Given the description of an element on the screen output the (x, y) to click on. 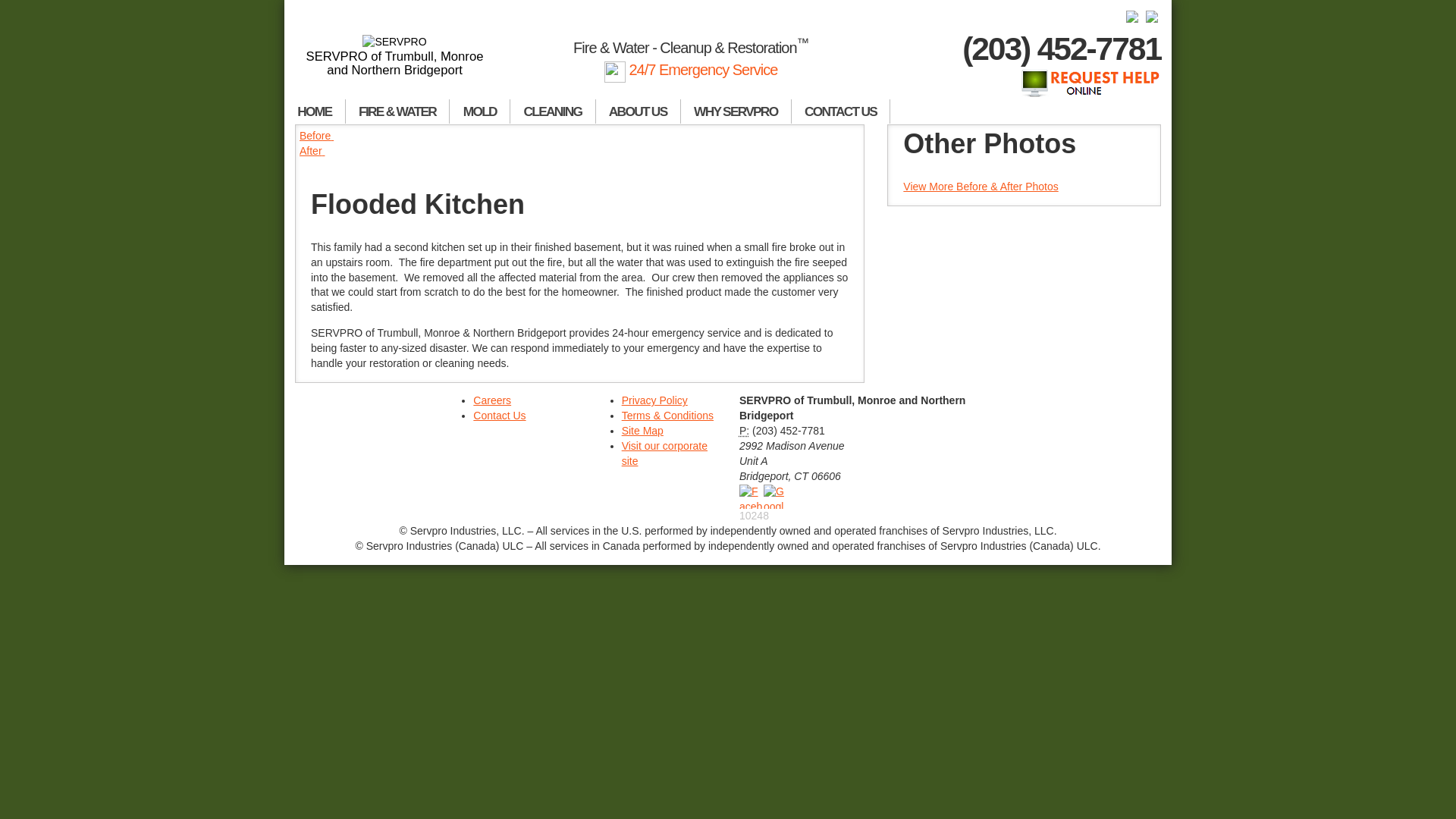
ABOUT US (638, 111)
MOLD (480, 111)
SERVPRO of Trumbull, Monroe and Northern Bridgeport (395, 55)
HOME (314, 111)
CLEANING (553, 111)
